Given the description of an element on the screen output the (x, y) to click on. 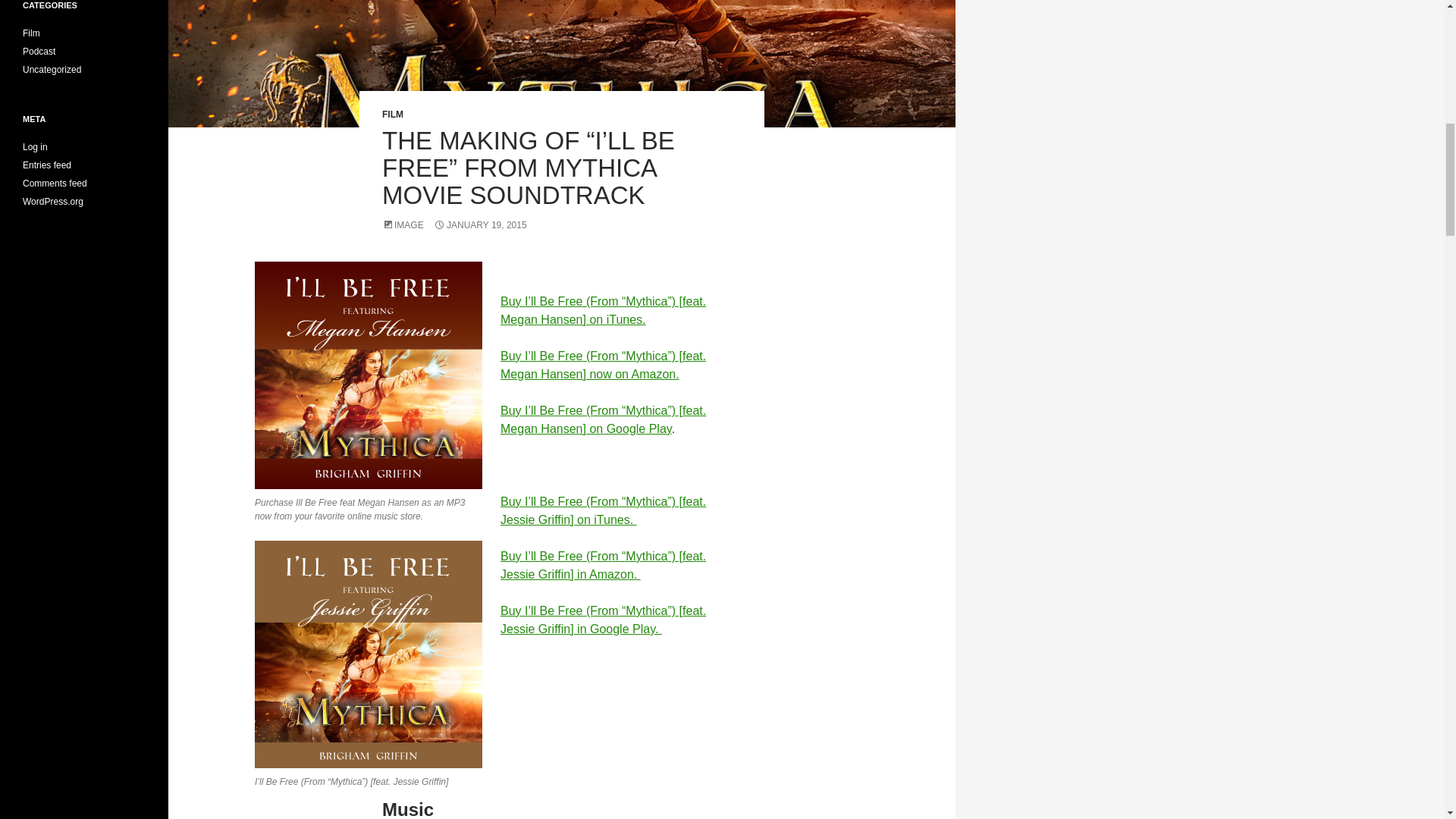
IMAGE (402, 225)
Buy in iTunes- Amazon link (603, 564)
Buy in iTunes- Google Play link (603, 619)
Megan Amzon mp3 (603, 364)
FILM (392, 113)
Buy in iTunes- Jessie link (603, 510)
JANUARY 19, 2015 (480, 225)
Google Play Megan link (603, 419)
Megan iTunes link (603, 309)
